Given the description of an element on the screen output the (x, y) to click on. 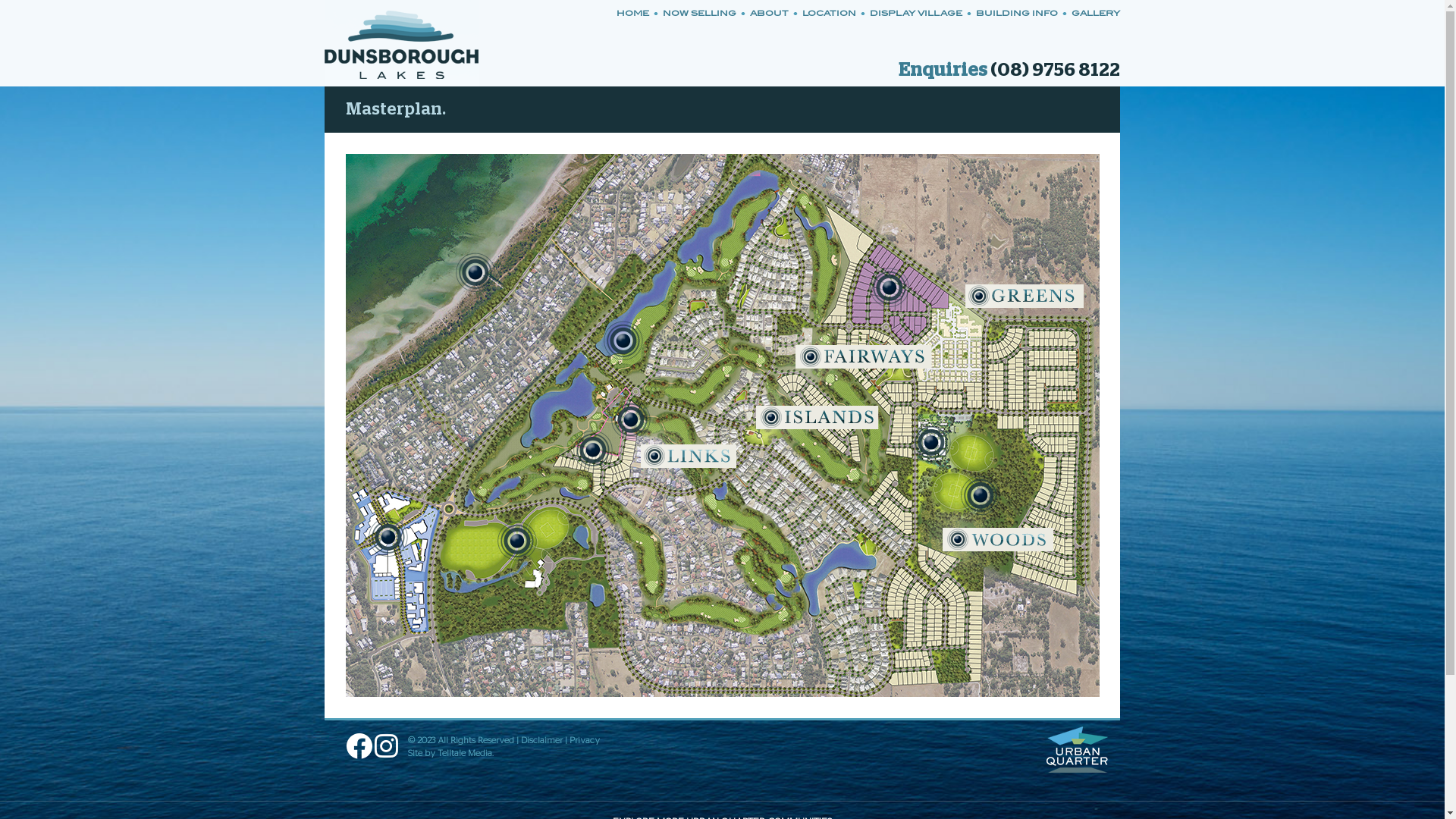
Privacy Element type: text (584, 739)
(08) 9756 8122 Element type: text (1055, 70)
Telltale Media Element type: text (464, 752)
LOCATION Element type: text (826, 12)
NOW SELLING Element type: text (696, 12)
DISPLAY VILLAGE Element type: text (913, 12)
GALLERY Element type: text (1091, 12)
BUILDING INFO Element type: text (1014, 12)
ABOUT Element type: text (766, 12)
Disclaimer Element type: text (541, 739)
Dunsborough Lakes Element type: text (401, 43)
HOME Element type: text (634, 12)
